Given the description of an element on the screen output the (x, y) to click on. 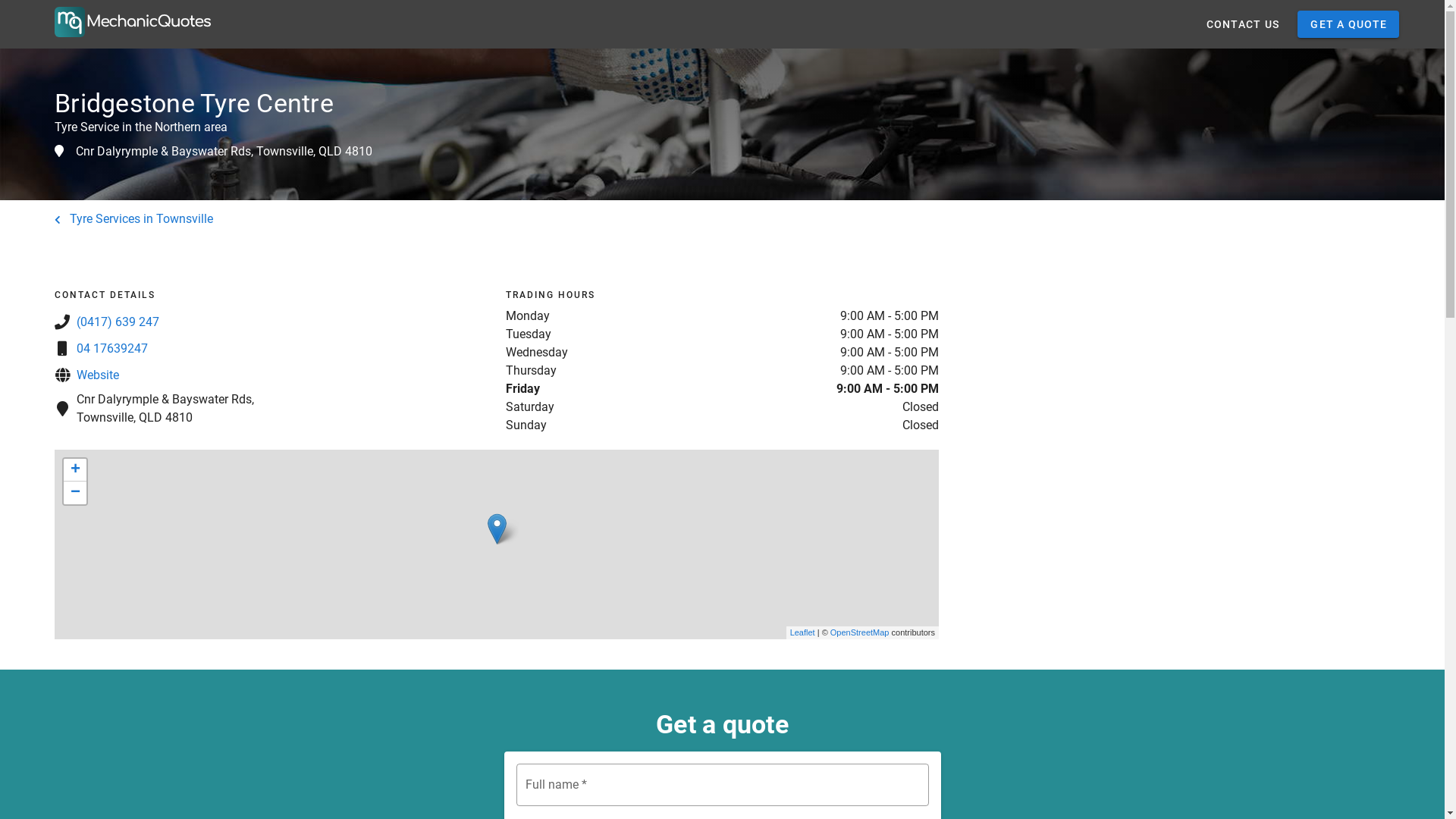
CONTACT US Element type: text (1241, 23)
04 17639247 Element type: text (111, 348)
+ Element type: text (74, 469)
(0417) 639 247 Element type: text (117, 321)
Leaflet Element type: text (802, 632)
Advertisement Element type: hover (1173, 373)
GET A QUOTE Element type: text (1348, 23)
Tyre Services in Townsville Element type: text (133, 218)
Website Element type: text (97, 374)
Cnr Dalyrymple & Bayswater Rds, Townsville, QLD 4810 Element type: text (223, 151)
OpenStreetMap Element type: text (859, 632)
